Given the description of an element on the screen output the (x, y) to click on. 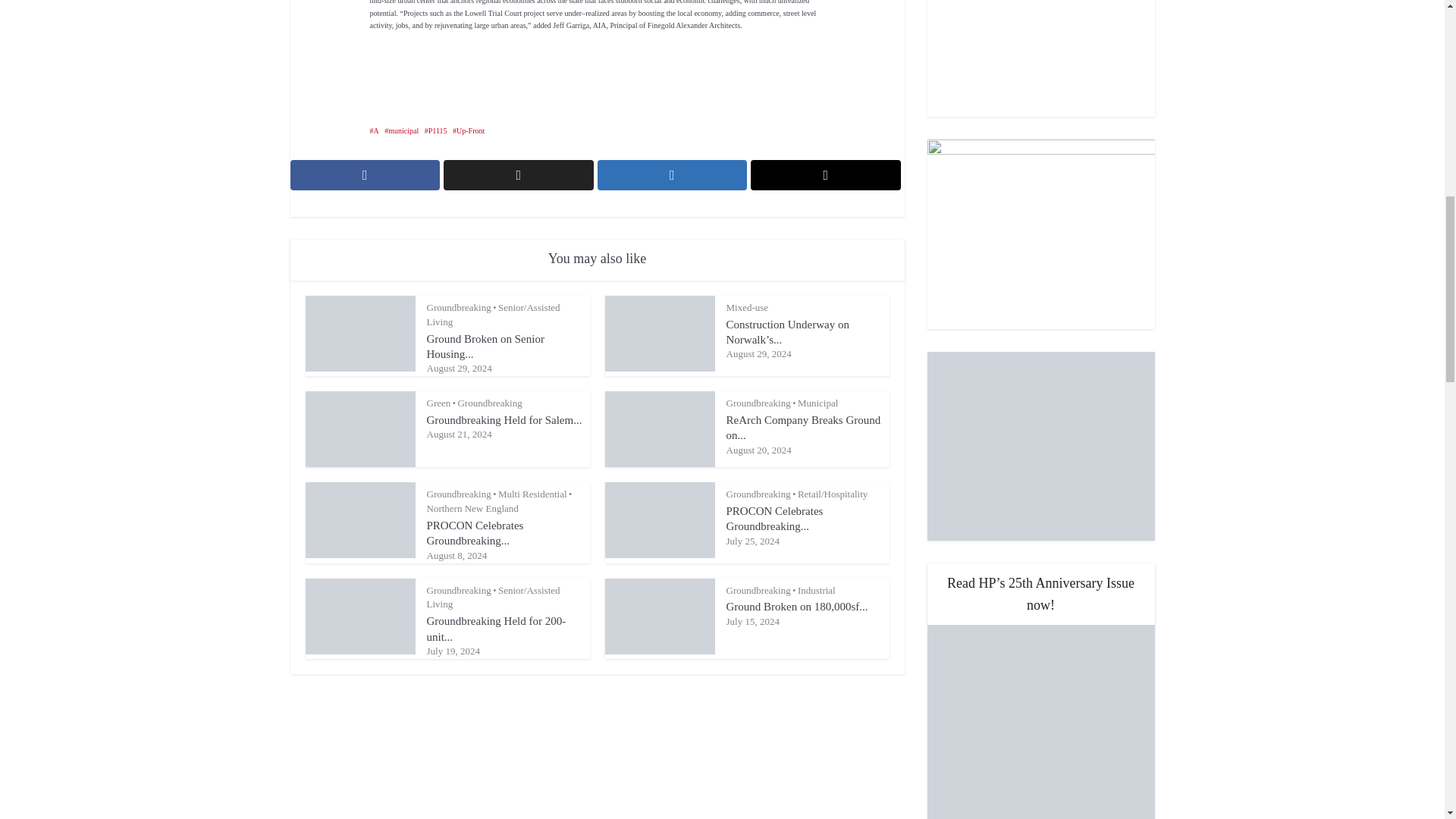
Ground Broken on Senior Housing Community in Mattapan (484, 346)
The Annual Green Supplement 2020 is Live! (1040, 58)
Groundbreaking Held for Salem Offshore Wind Terminal (503, 419)
